Given the description of an element on the screen output the (x, y) to click on. 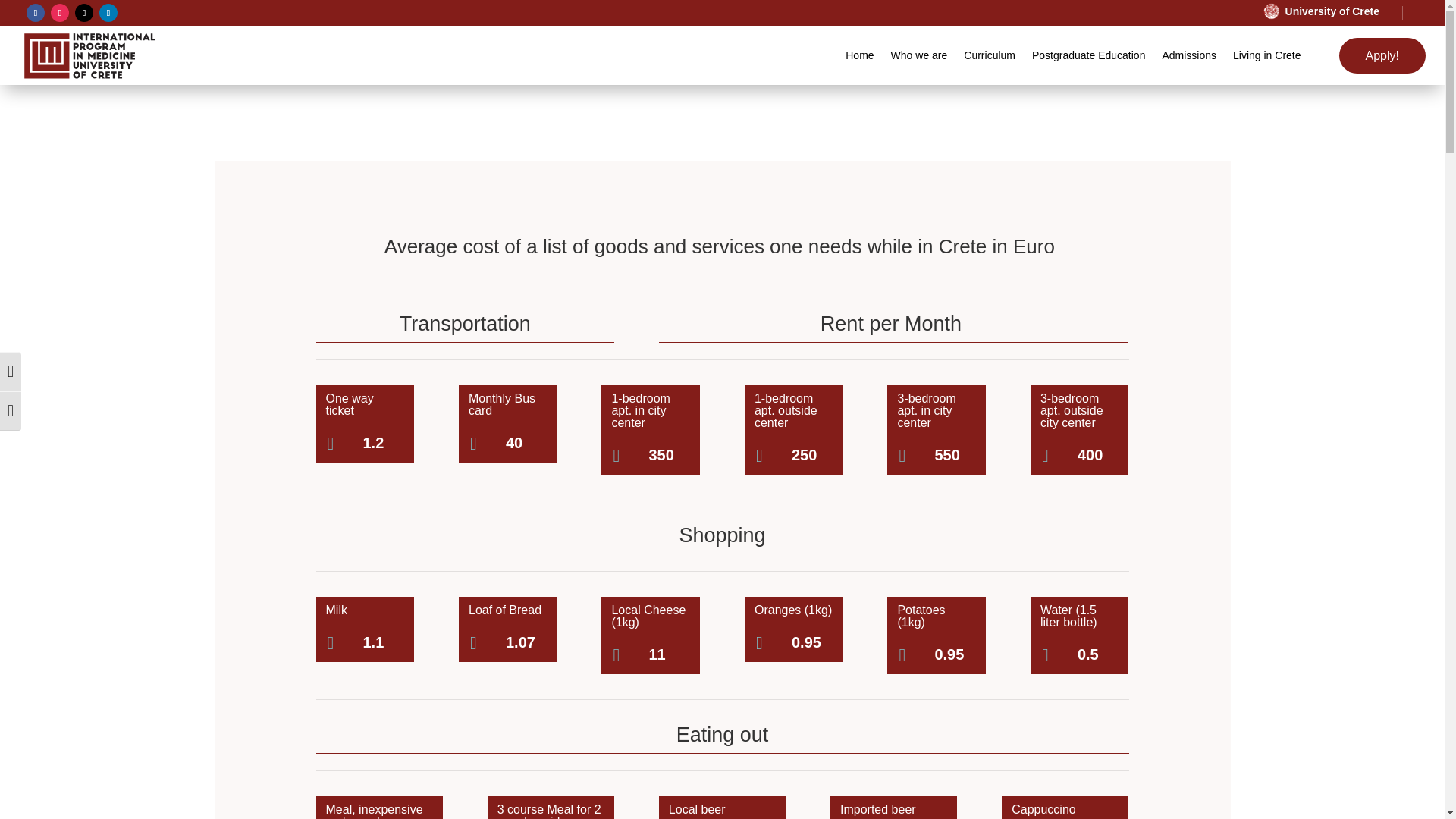
Who we are (919, 54)
Postgraduate Education (1088, 54)
Curriculum (988, 54)
Home (859, 54)
Admissions (1188, 54)
Living in Crete (1267, 54)
